Given the description of an element on the screen output the (x, y) to click on. 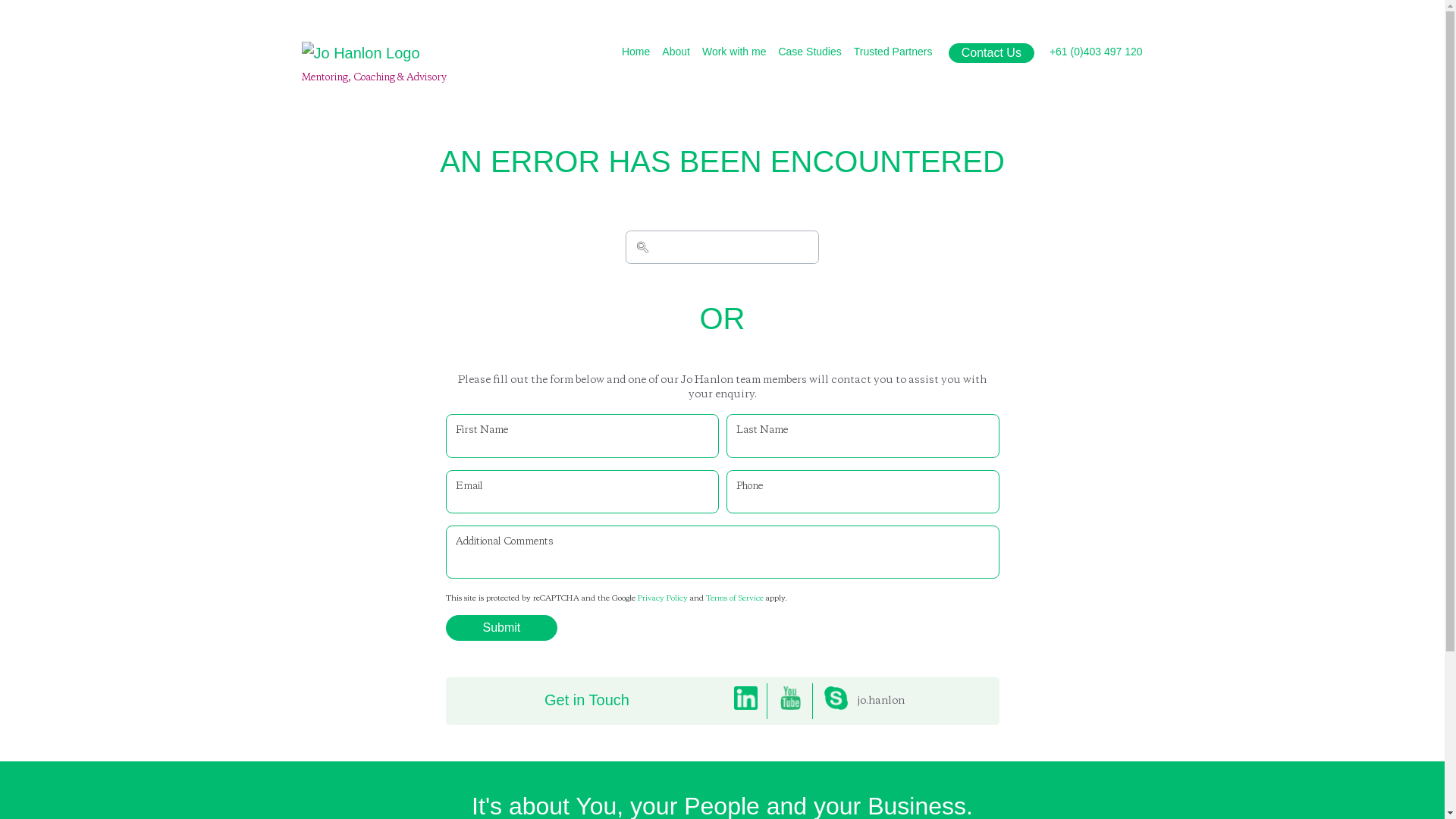
Work with me Element type: text (734, 52)
Contact Us Element type: text (991, 52)
Case Studies Element type: text (809, 52)
+61 (0)403 497 120 Element type: text (1095, 52)
Submit Element type: text (501, 627)
Mentoring, Coaching & Advisory Element type: text (373, 62)
About Element type: text (675, 52)
Terms of Service Element type: text (733, 598)
Home Element type: text (635, 52)
Privacy Policy Element type: text (662, 598)
Trusted Partners Element type: text (892, 52)
